Given the description of an element on the screen output the (x, y) to click on. 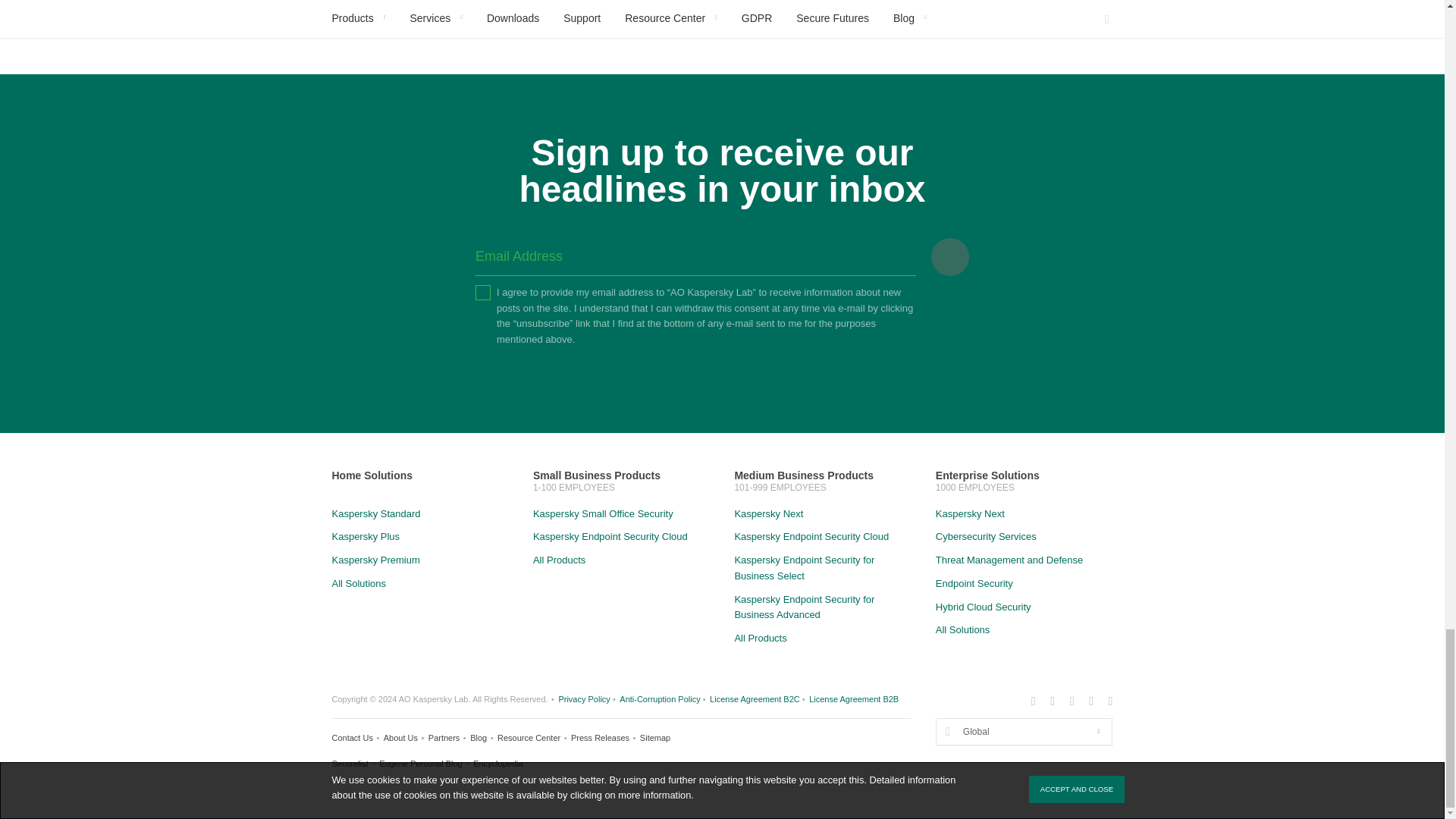
Sign me Up (950, 257)
